Given the description of an element on the screen output the (x, y) to click on. 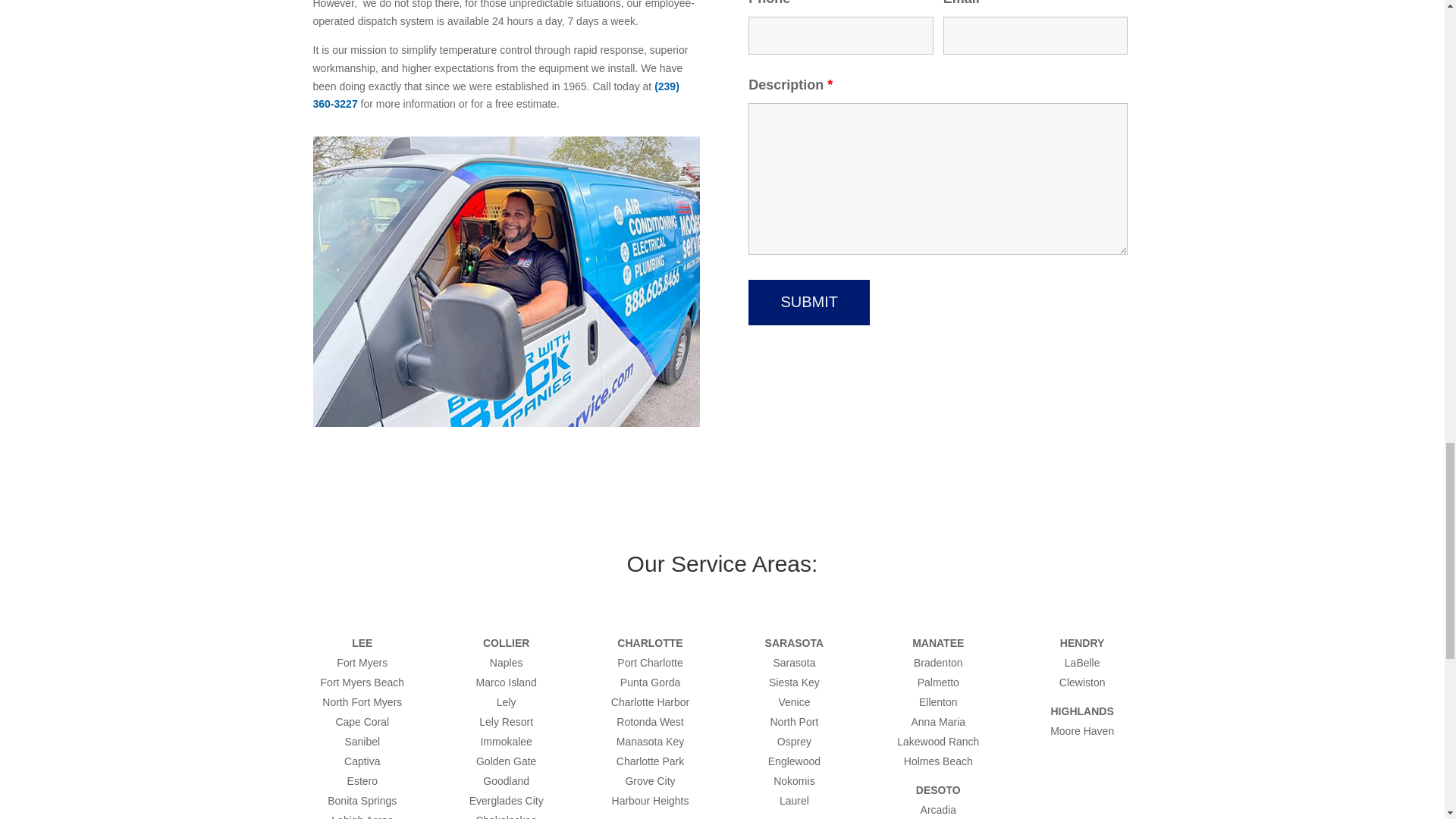
Submit (808, 302)
